Given the description of an element on the screen output the (x, y) to click on. 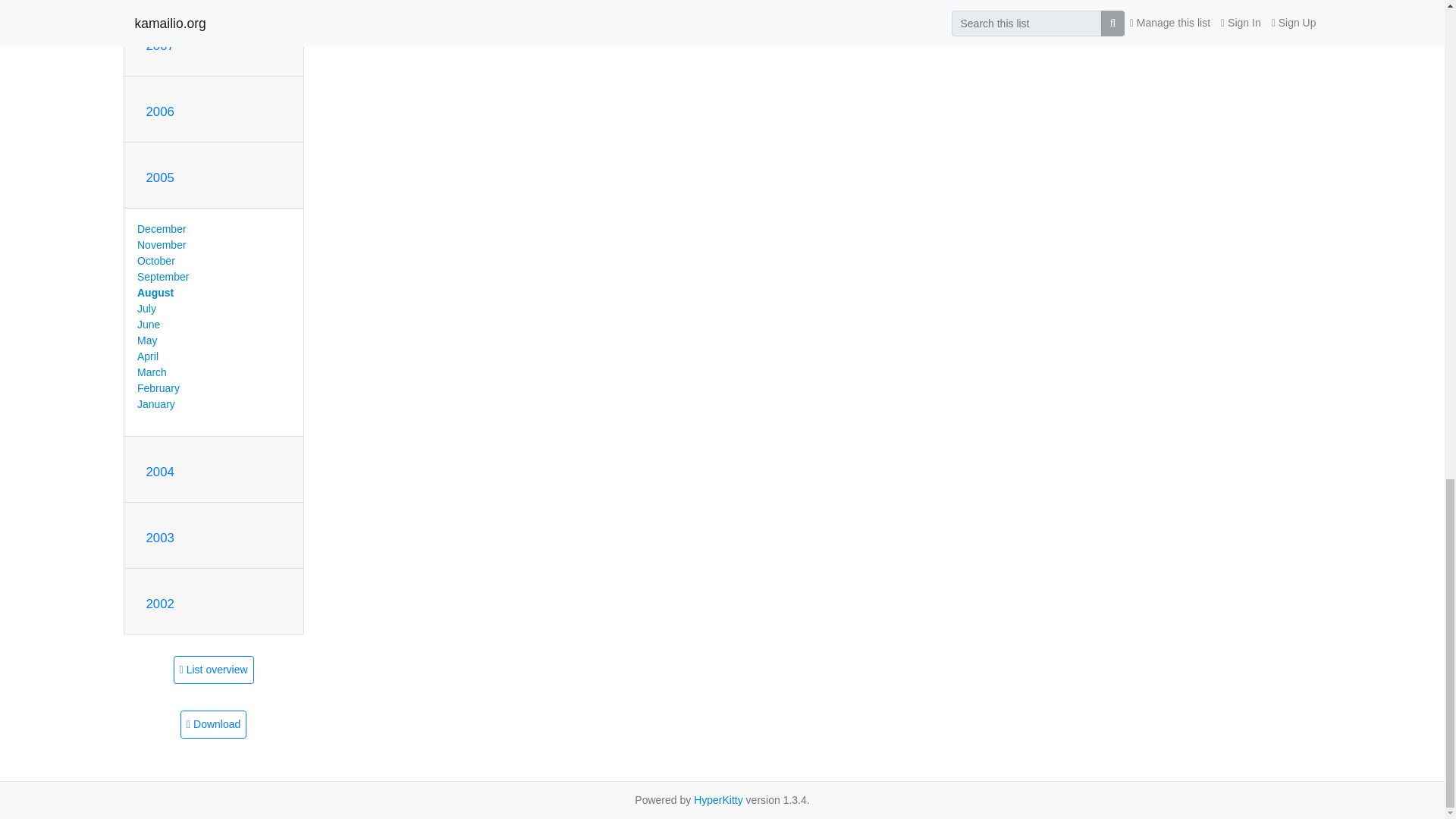
This message in gzipped mbox format (213, 724)
